Given the description of an element on the screen output the (x, y) to click on. 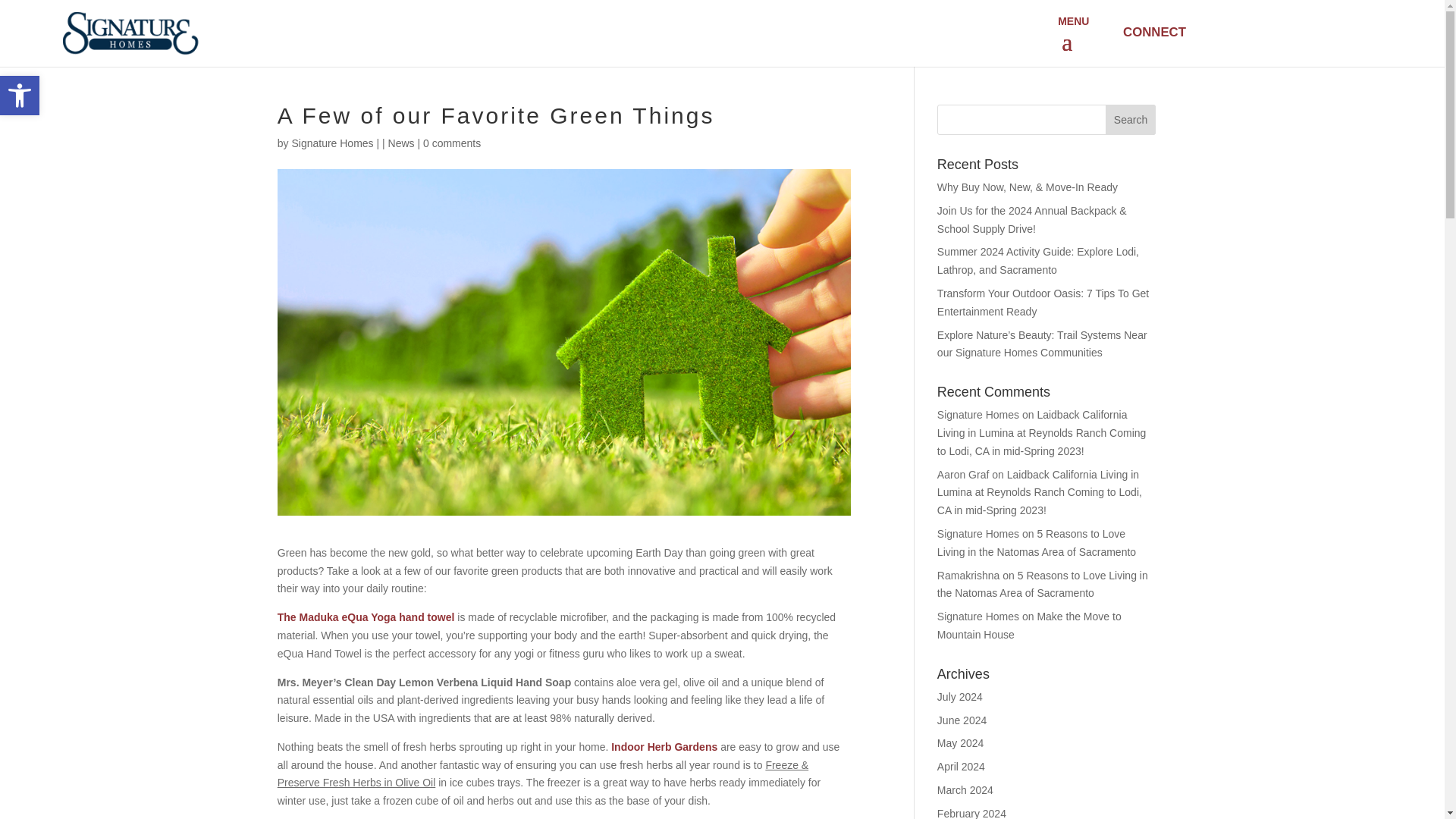
The Maduka eQua Yoga hand towel (366, 616)
News (401, 143)
Expand Or Contract Menu (1069, 42)
Signature Homes (19, 95)
Indoor Herb Gardens (331, 143)
Accessibility Tools (664, 746)
Posts by Signature Homes (19, 95)
Accessibility Tools (331, 143)
CONNECT (19, 95)
0 comments (1152, 32)
Search (451, 143)
Skip To Content (1130, 119)
